Given the description of an element on the screen output the (x, y) to click on. 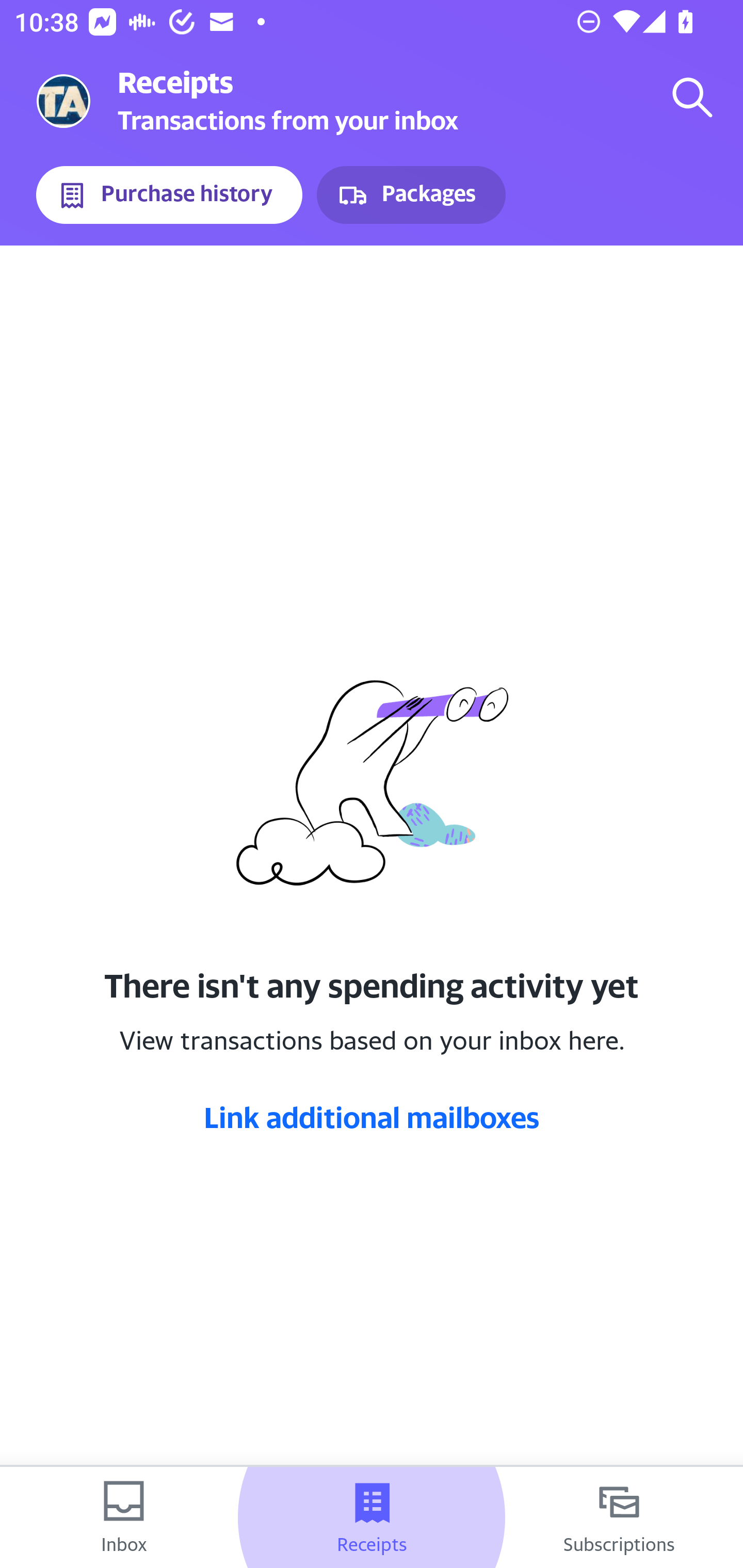
Search mail (692, 97)
Packages (410, 195)
Link additional mailboxes (371, 1117)
Inbox (123, 1517)
Receipts (371, 1517)
Subscriptions (619, 1517)
